Given the description of an element on the screen output the (x, y) to click on. 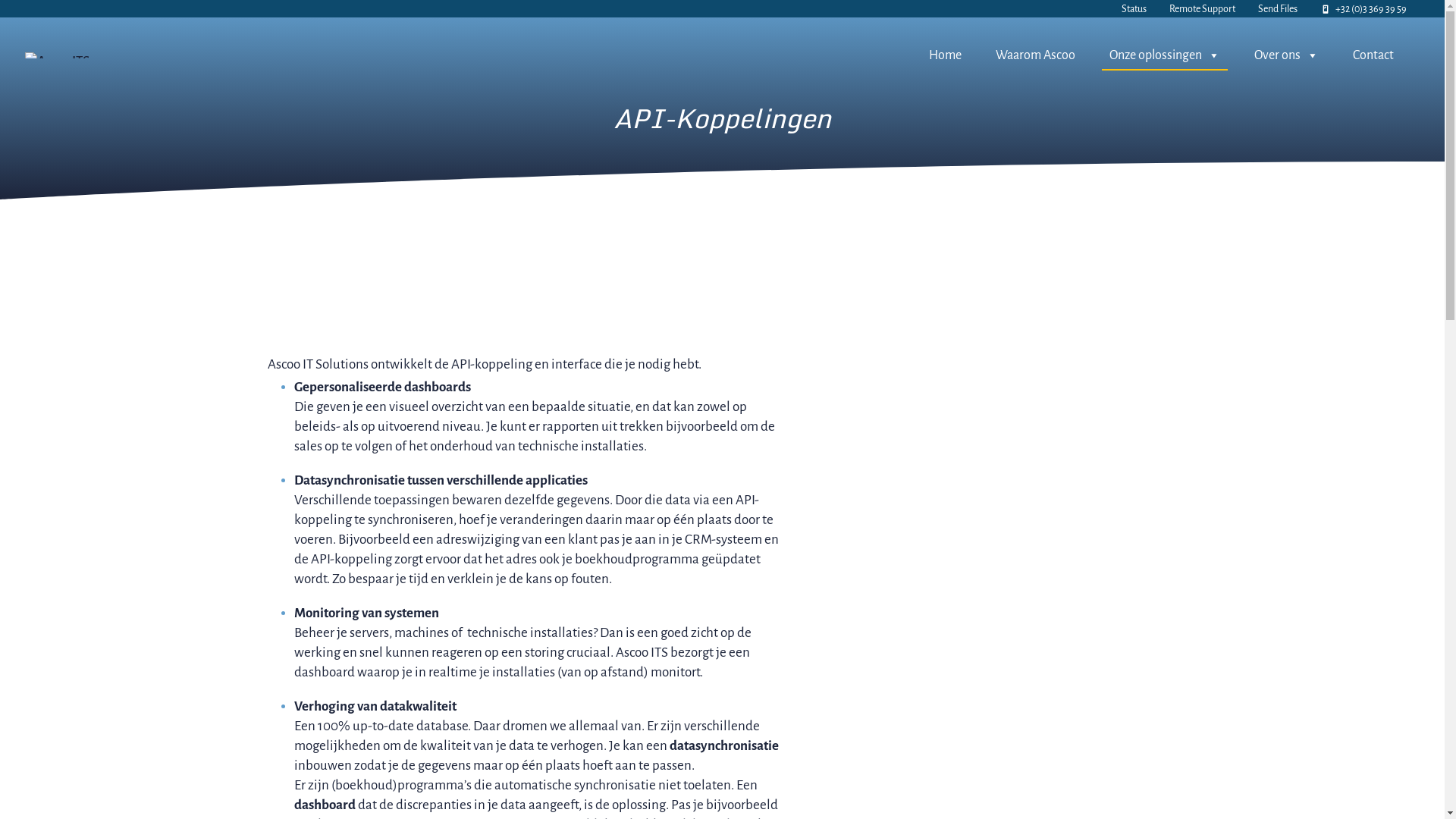
Contact Element type: text (1373, 55)
Send Files Element type: text (1277, 9)
Status Element type: text (1133, 9)
+32 (0)3 369 39 59 Element type: text (1363, 9)
Over ons Element type: text (1286, 55)
Onze oplossingen Element type: text (1164, 55)
Remote Support Element type: text (1201, 9)
Waarom Ascoo Element type: text (1035, 55)
Home Element type: text (945, 55)
